Given the description of an element on the screen output the (x, y) to click on. 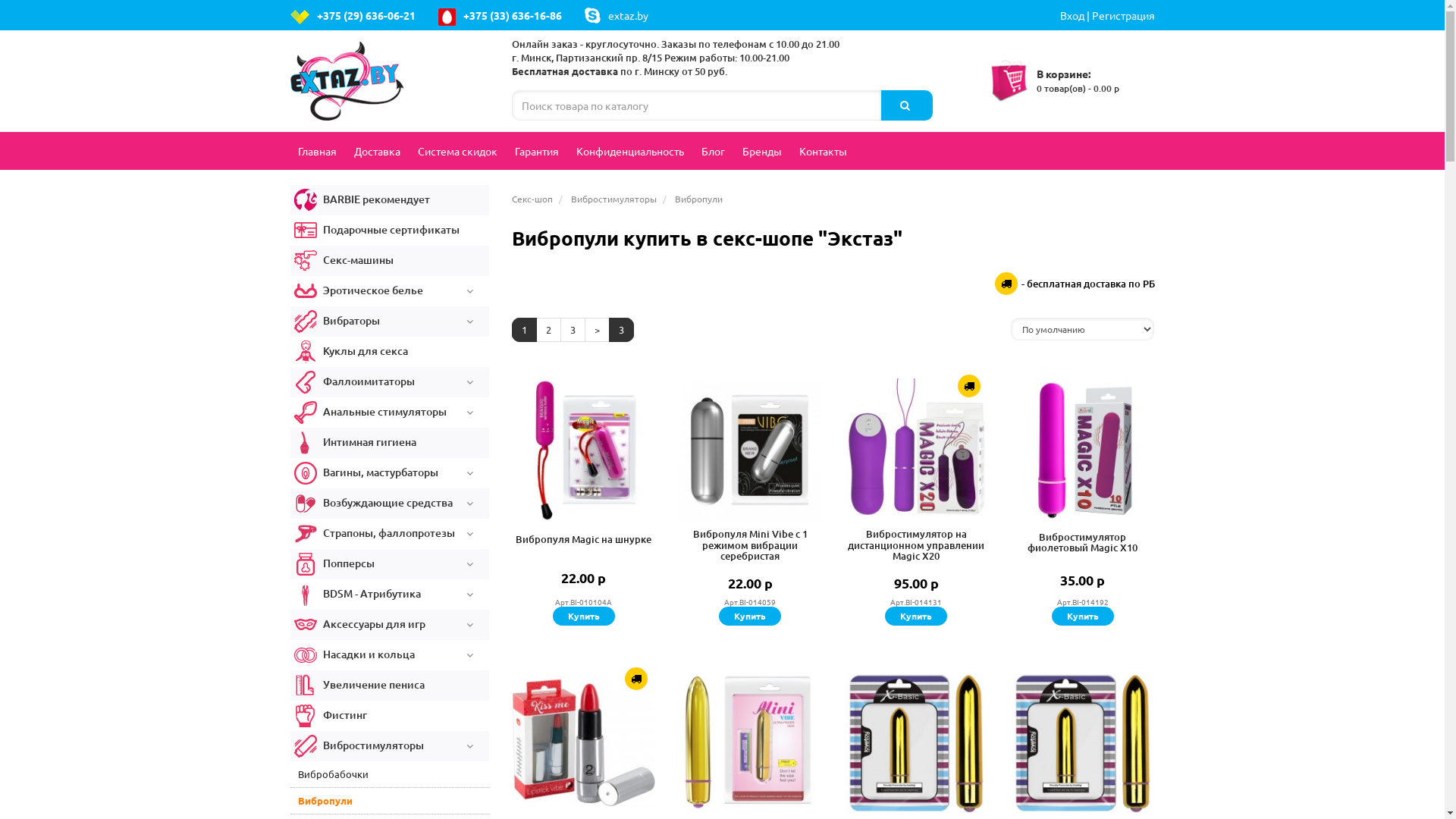
3 Element type: text (572, 329)
+375 (33) 636-16-86 Element type: text (499, 15)
3 Element type: text (620, 329)
extaz.by Element type: text (615, 15)
2 Element type: text (548, 329)
+375 (29) 636-06-21 Element type: text (351, 15)
> Element type: text (596, 329)
